Given the description of an element on the screen output the (x, y) to click on. 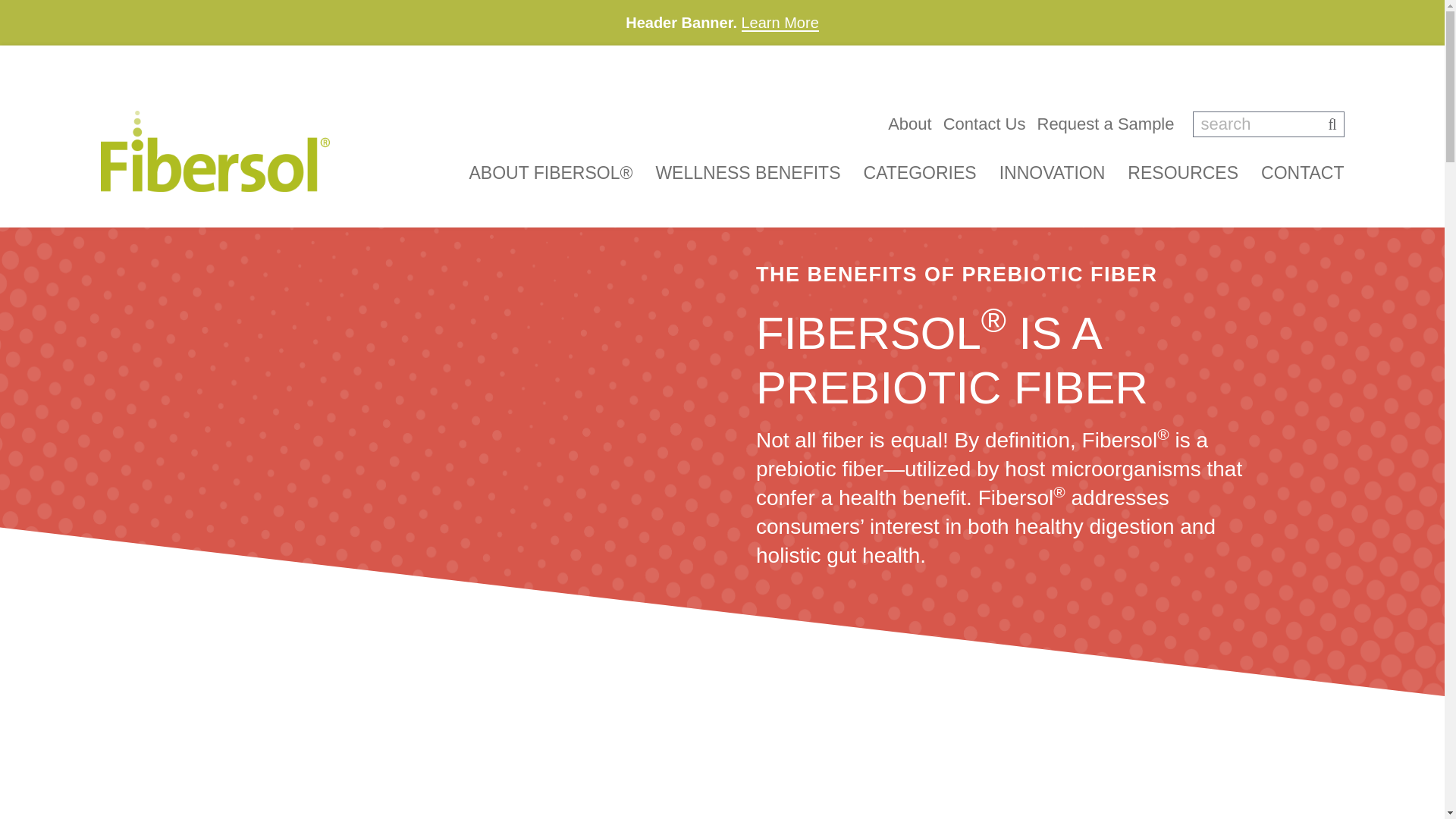
INNOVATION (1051, 172)
Request a Sample (1105, 123)
Contact Us (984, 123)
About (909, 123)
CATEGORIES (919, 172)
Learn More (779, 22)
RESOURCES (1182, 172)
WELLNESS BENEFITS (747, 172)
